Given the description of an element on the screen output the (x, y) to click on. 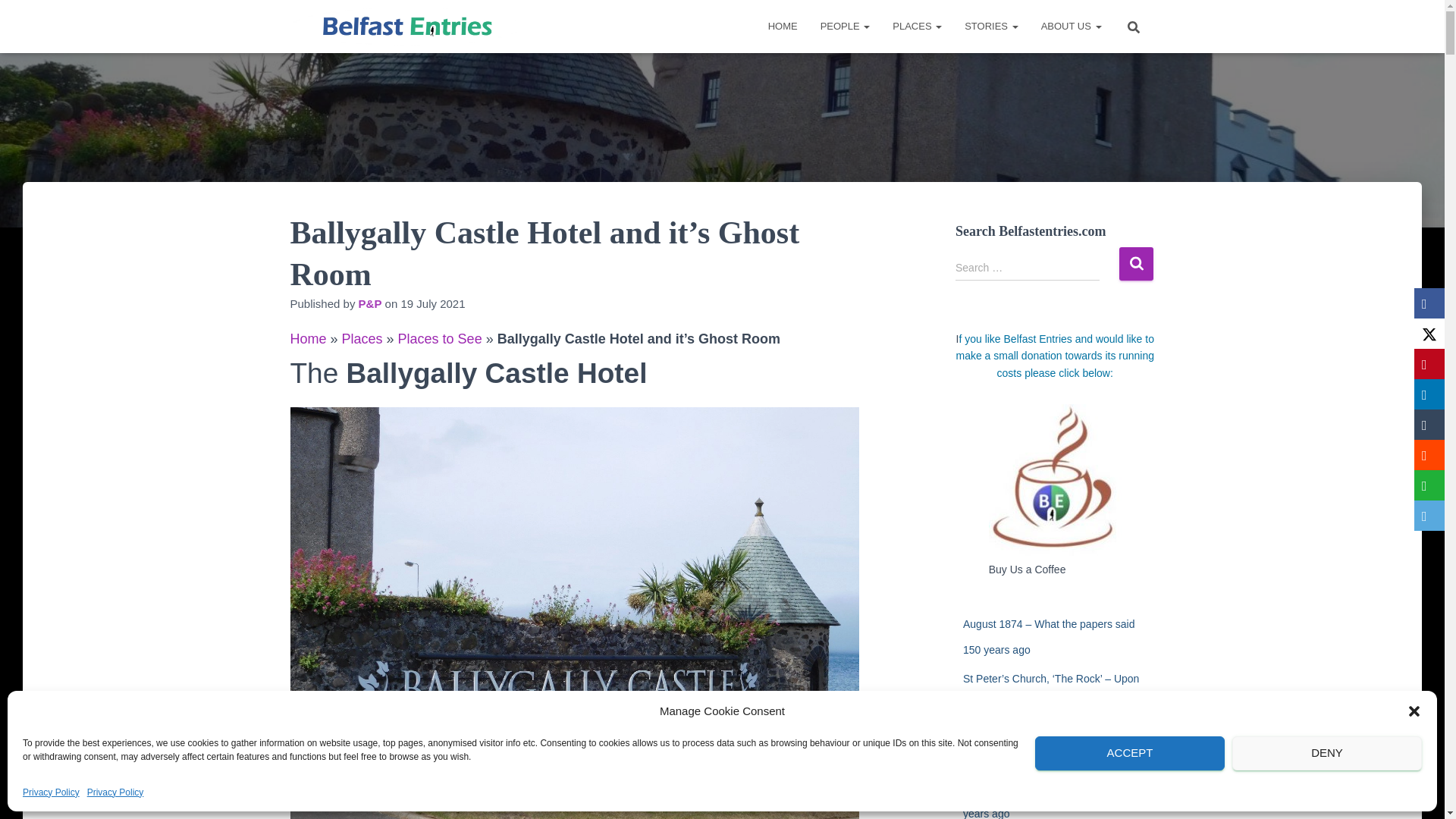
STORIES (991, 26)
Search (1136, 263)
People (845, 26)
Privacy Policy (115, 792)
DENY (1326, 753)
Home (783, 26)
Privacy Policy (51, 792)
Places (916, 26)
Belfast Entries (406, 26)
ABOUT US (1071, 26)
